Given the description of an element on the screen output the (x, y) to click on. 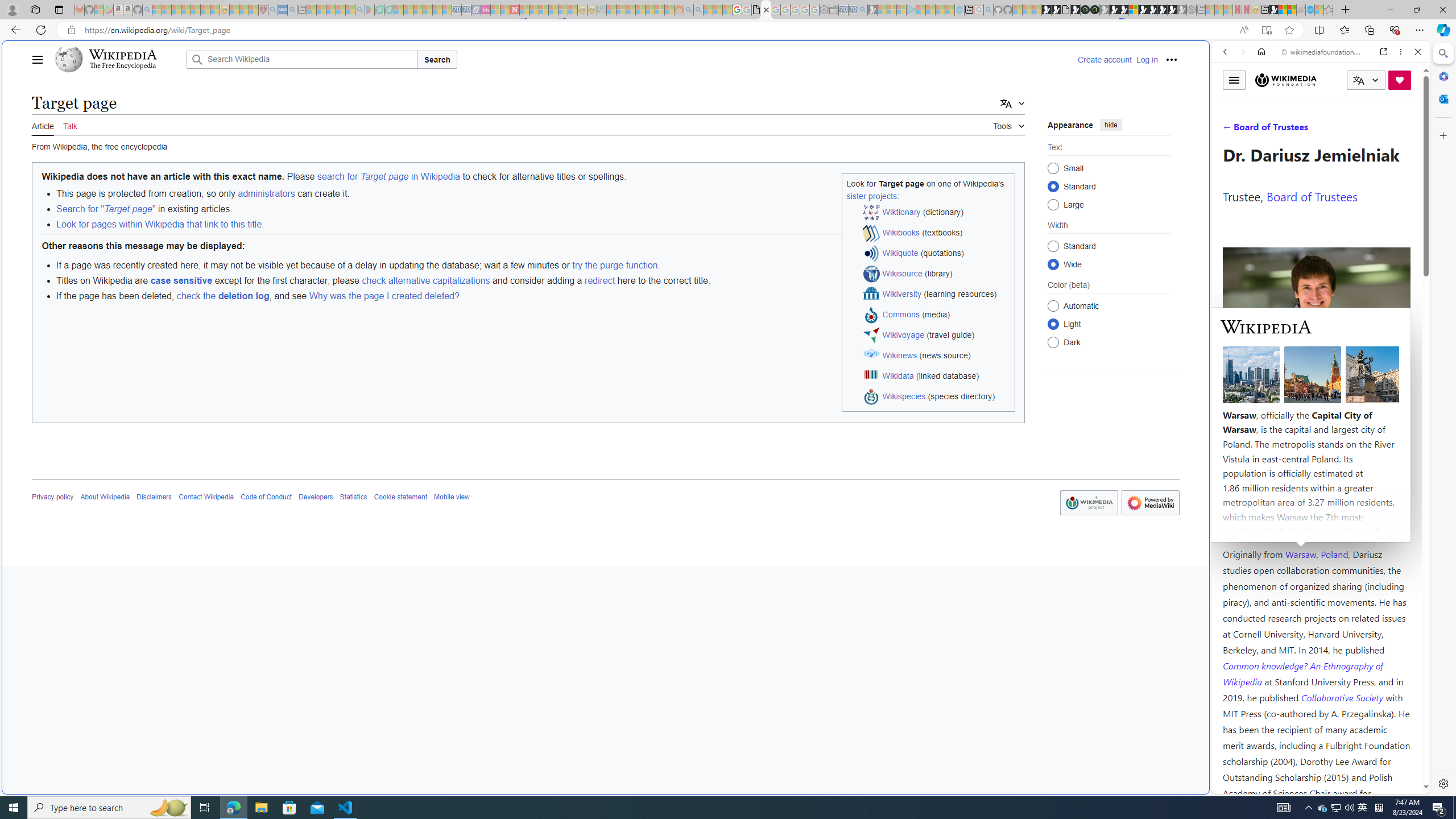
World - MSN (1283, 9)
Search Wikipedia (301, 59)
administrators (266, 194)
Home | Sky Blue Bikes - Sky Blue Bikes - Sleeping (959, 9)
Harvard University (1259, 526)
Expert Portfolios - Sleeping (639, 9)
Commons (901, 314)
Large (1053, 204)
